Given the description of an element on the screen output the (x, y) to click on. 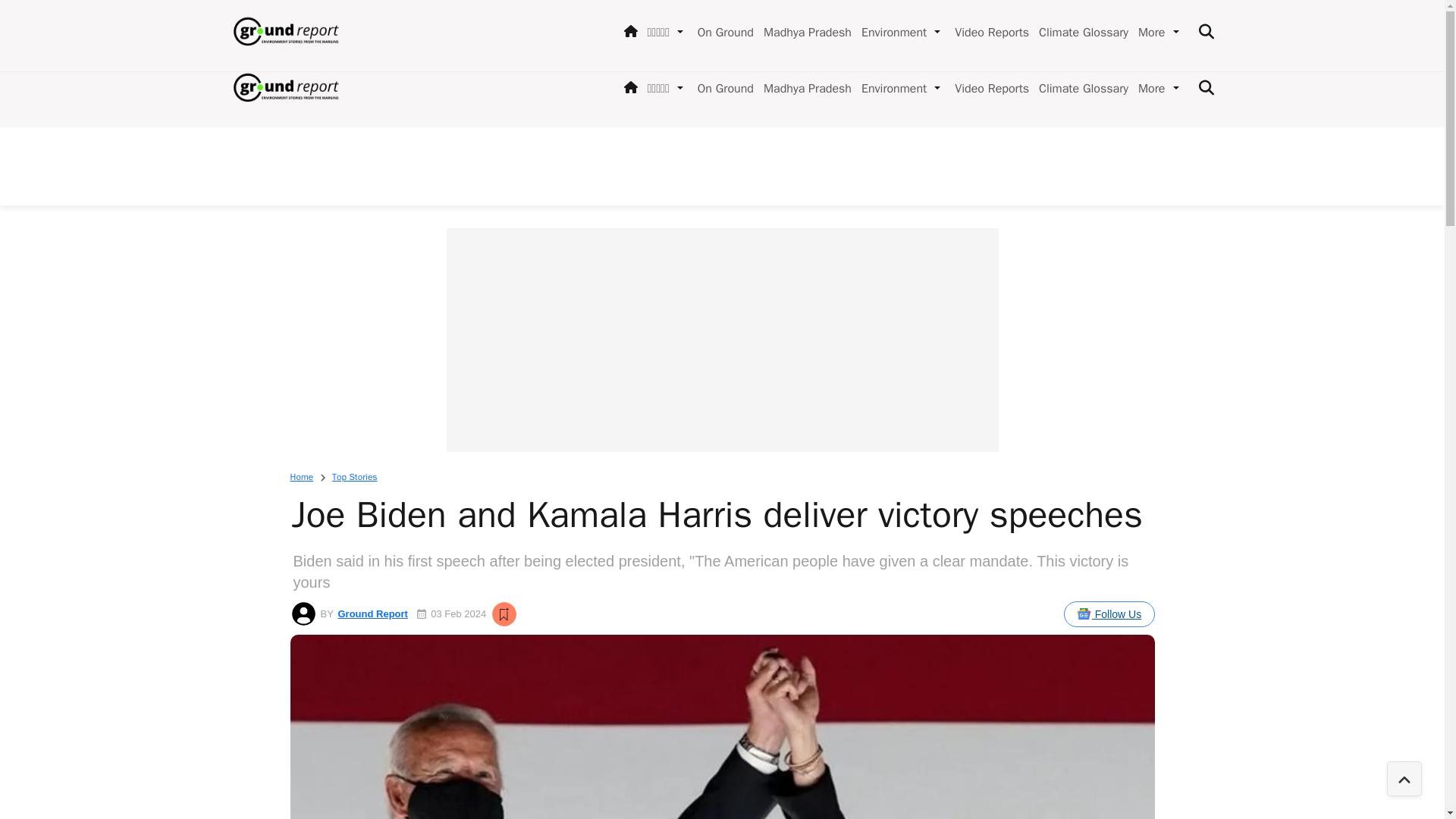
Video Reports (989, 88)
Environment (891, 88)
Madhya Pradesh (804, 88)
Climate Glossary (1080, 88)
On Ground (722, 88)
